Given the description of an element on the screen output the (x, y) to click on. 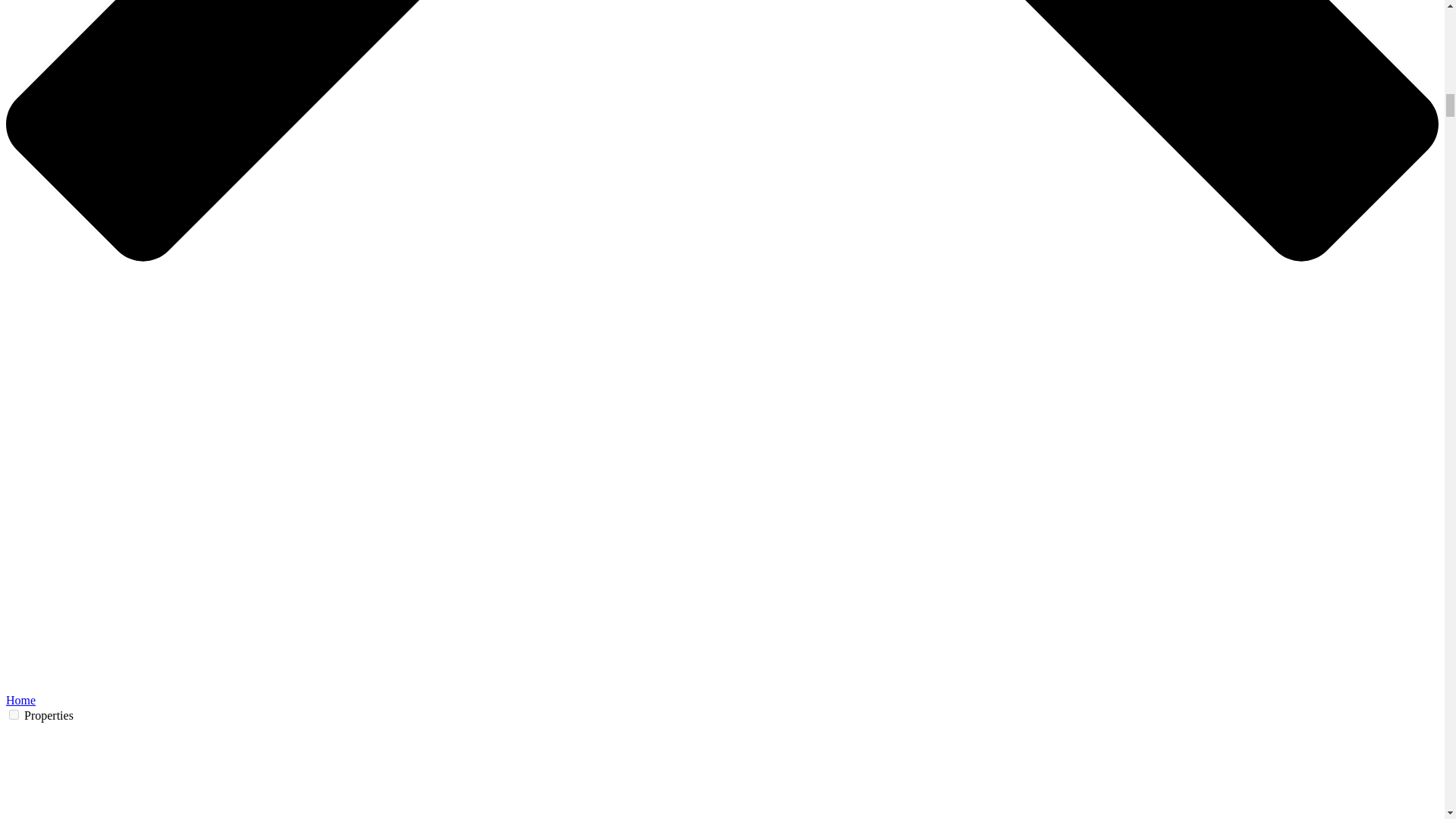
1Property facebook page (888, 472)
Favourites (1118, 51)
031 762 4560 (436, 497)
our search (686, 327)
Contact (721, 468)
Residential, commercial property for sale Upper Highway (442, 51)
Contact (1069, 51)
Privacy Policy (721, 497)
News (931, 51)
Favourites (1118, 51)
